Given the description of an element on the screen output the (x, y) to click on. 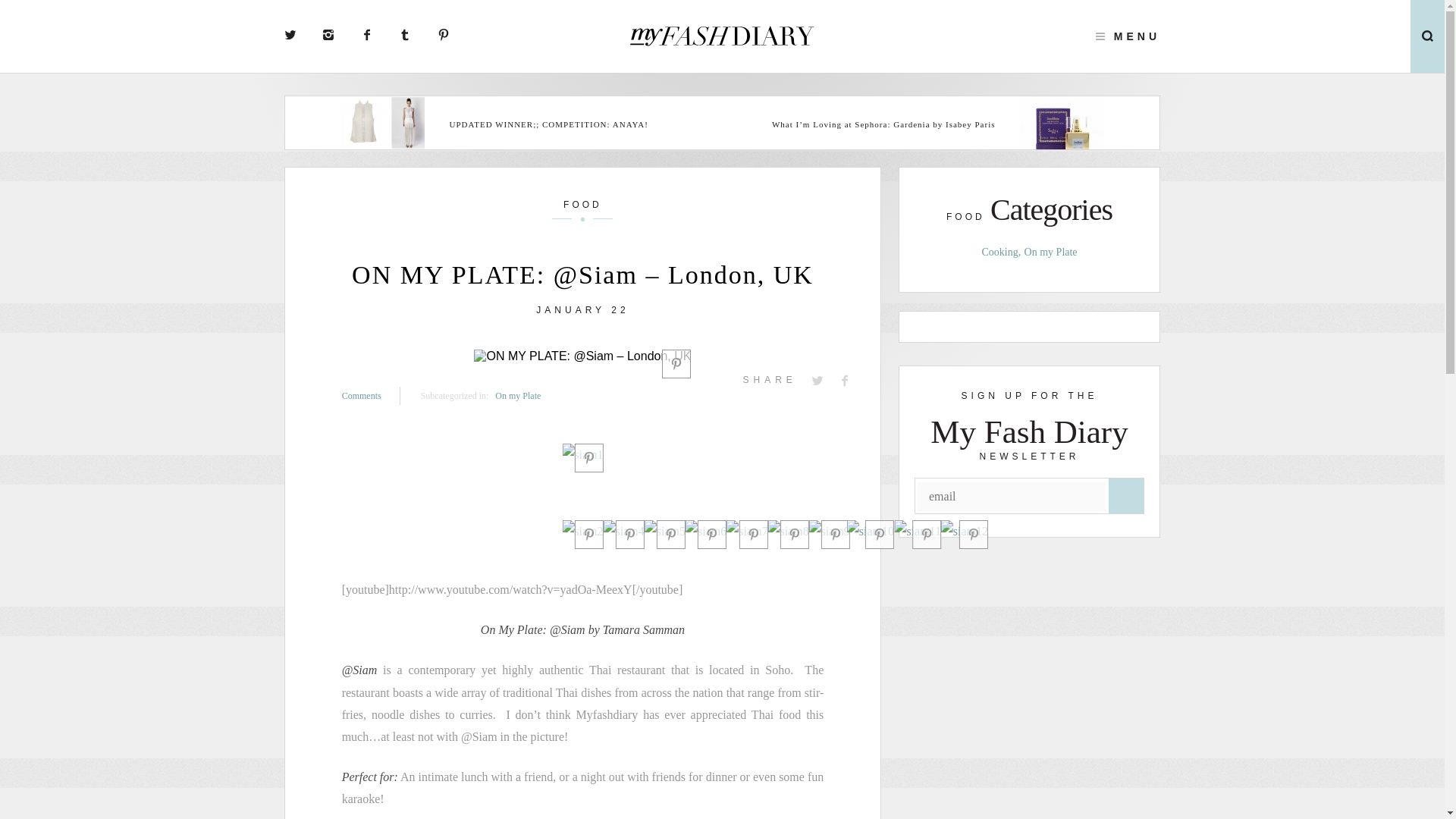
siam1 (582, 454)
siam9 (829, 531)
siam11 (916, 531)
On my Plate (517, 395)
siam4 (624, 531)
siam5 (665, 531)
siam12 (964, 531)
siam6 (705, 531)
UPDATED WINNER;; COMPETITION: ANAYA! (563, 123)
siam2 (582, 531)
siam8 (787, 531)
Comments (371, 395)
siam10 (870, 531)
siam7 (746, 531)
FOOD (582, 209)
